Given the description of an element on the screen output the (x, y) to click on. 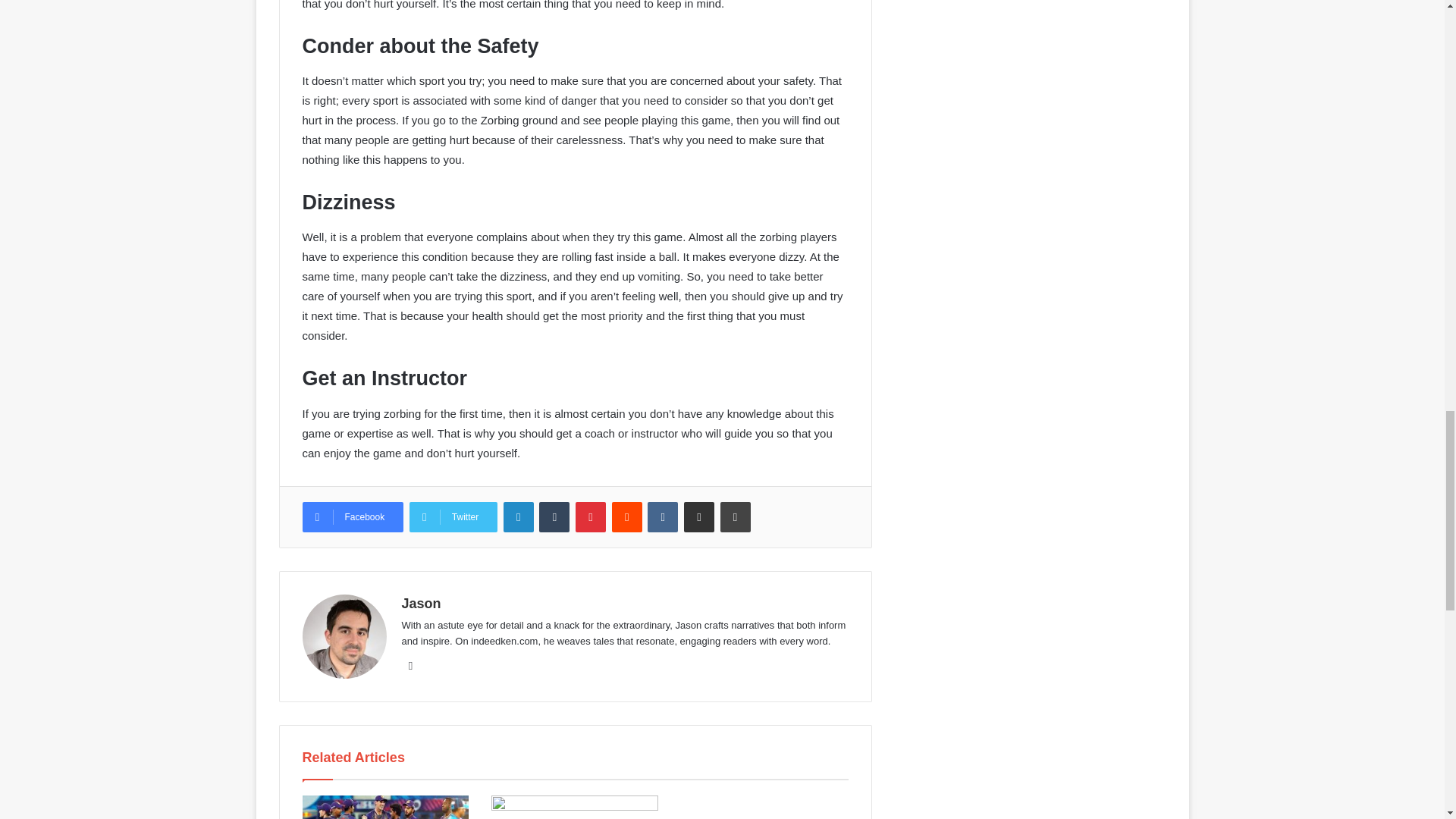
Facebook (352, 517)
Pinterest (590, 517)
LinkedIn (518, 517)
VKontakte (662, 517)
Jason (421, 603)
Website (410, 665)
Tumblr (553, 517)
Twitter (453, 517)
Reddit (626, 517)
Print (735, 517)
Share via Email (699, 517)
Facebook (352, 517)
